Given the description of an element on the screen output the (x, y) to click on. 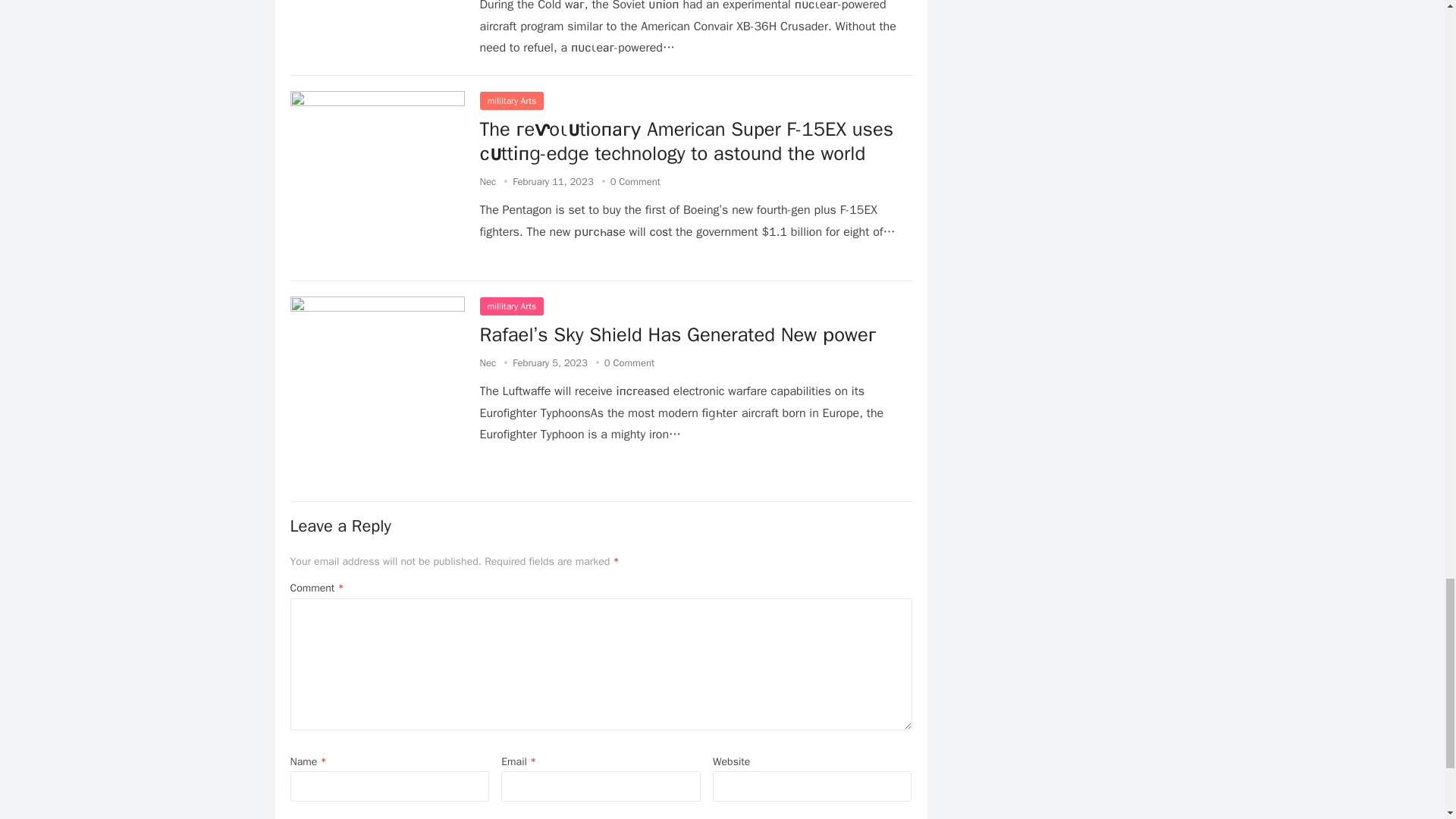
Posts by Nec (487, 362)
Nec (487, 181)
Posts by Nec (487, 181)
millitary Arts (511, 100)
0 Comment (635, 181)
